Given the description of an element on the screen output the (x, y) to click on. 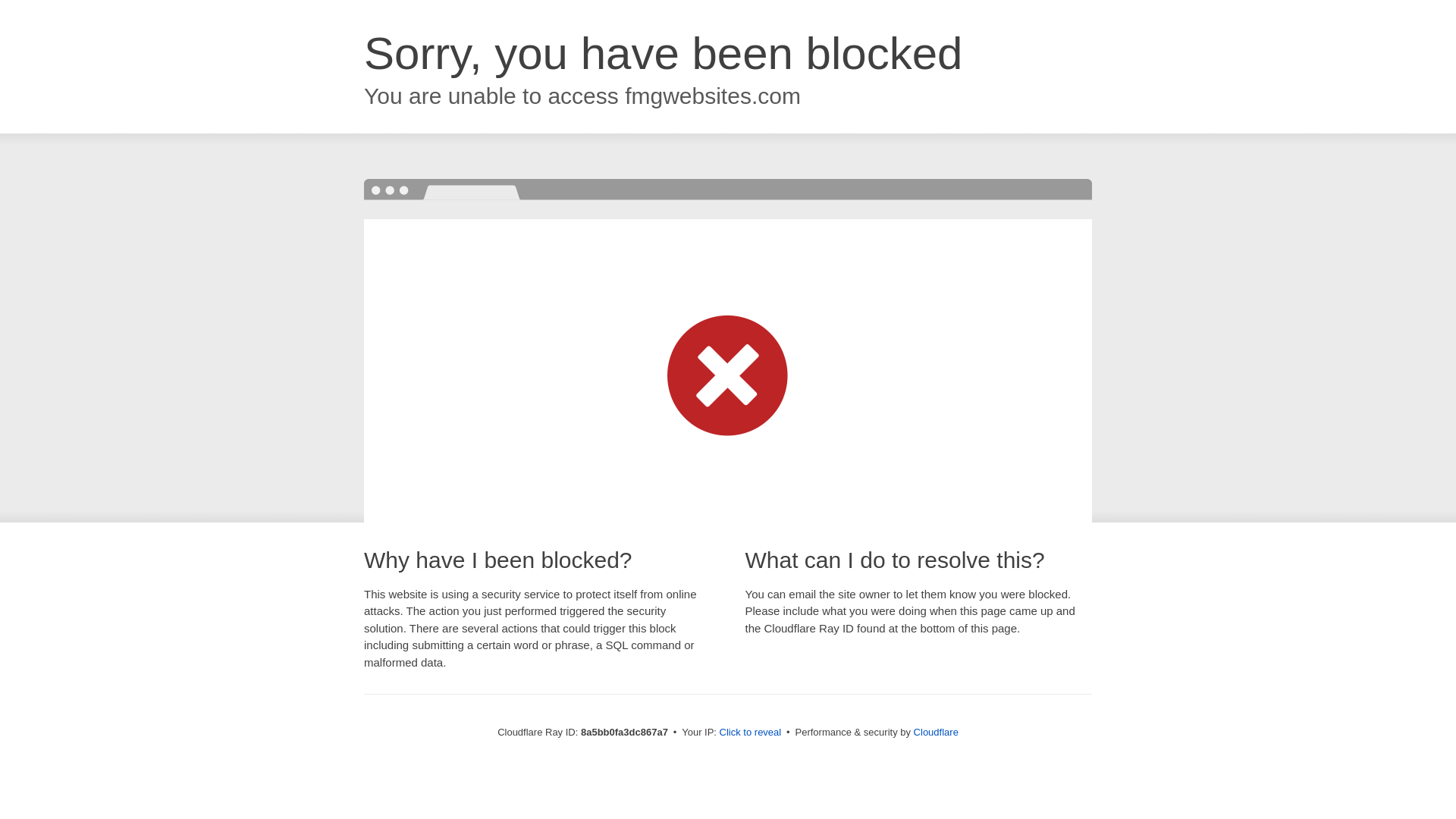
Cloudflare (936, 731)
Click to reveal (750, 732)
